Given the description of an element on the screen output the (x, y) to click on. 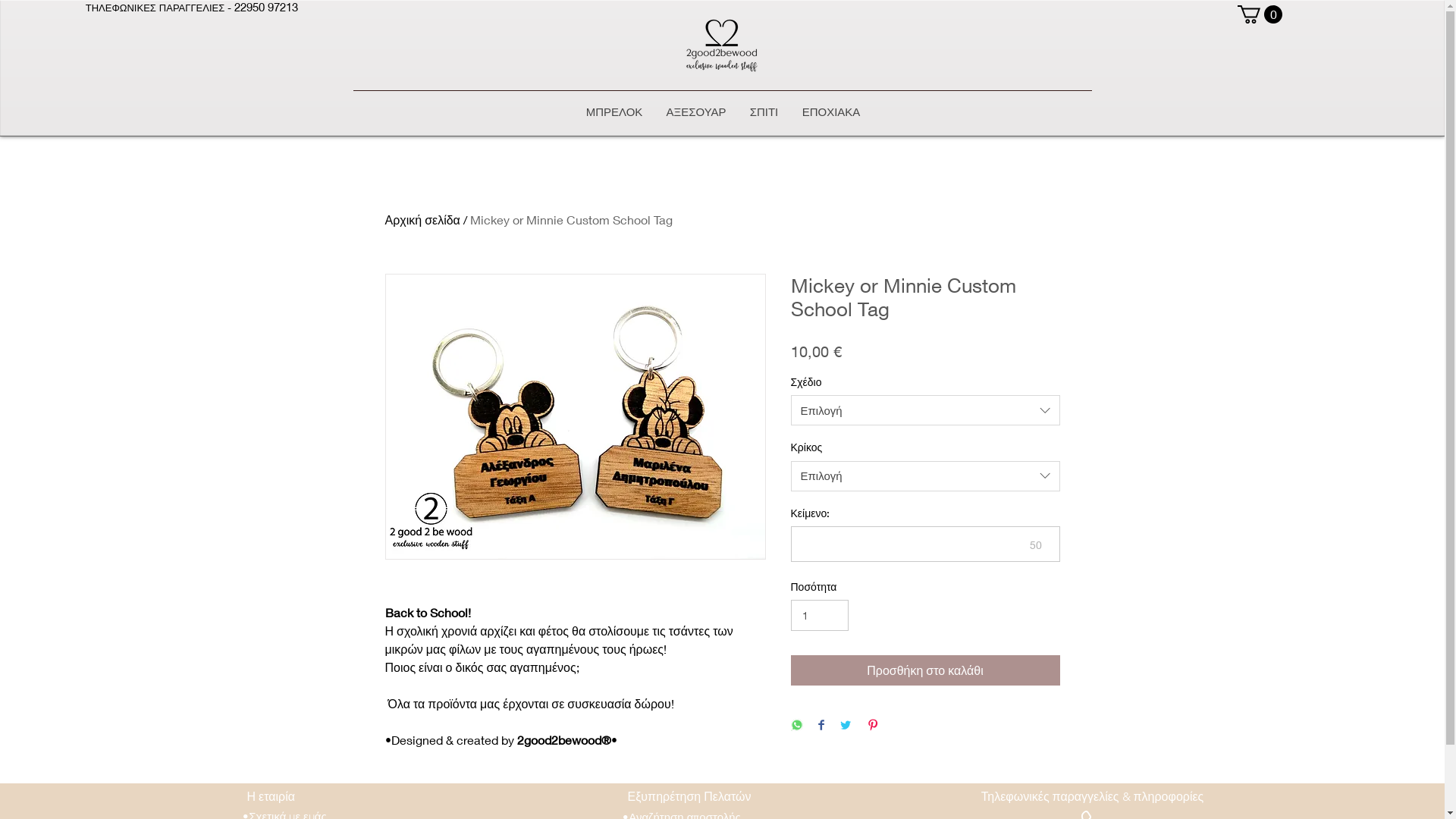
Mickey or Minnie Custom School Tag Element type: text (571, 219)
0 Element type: text (1259, 14)
